Given the description of an element on the screen output the (x, y) to click on. 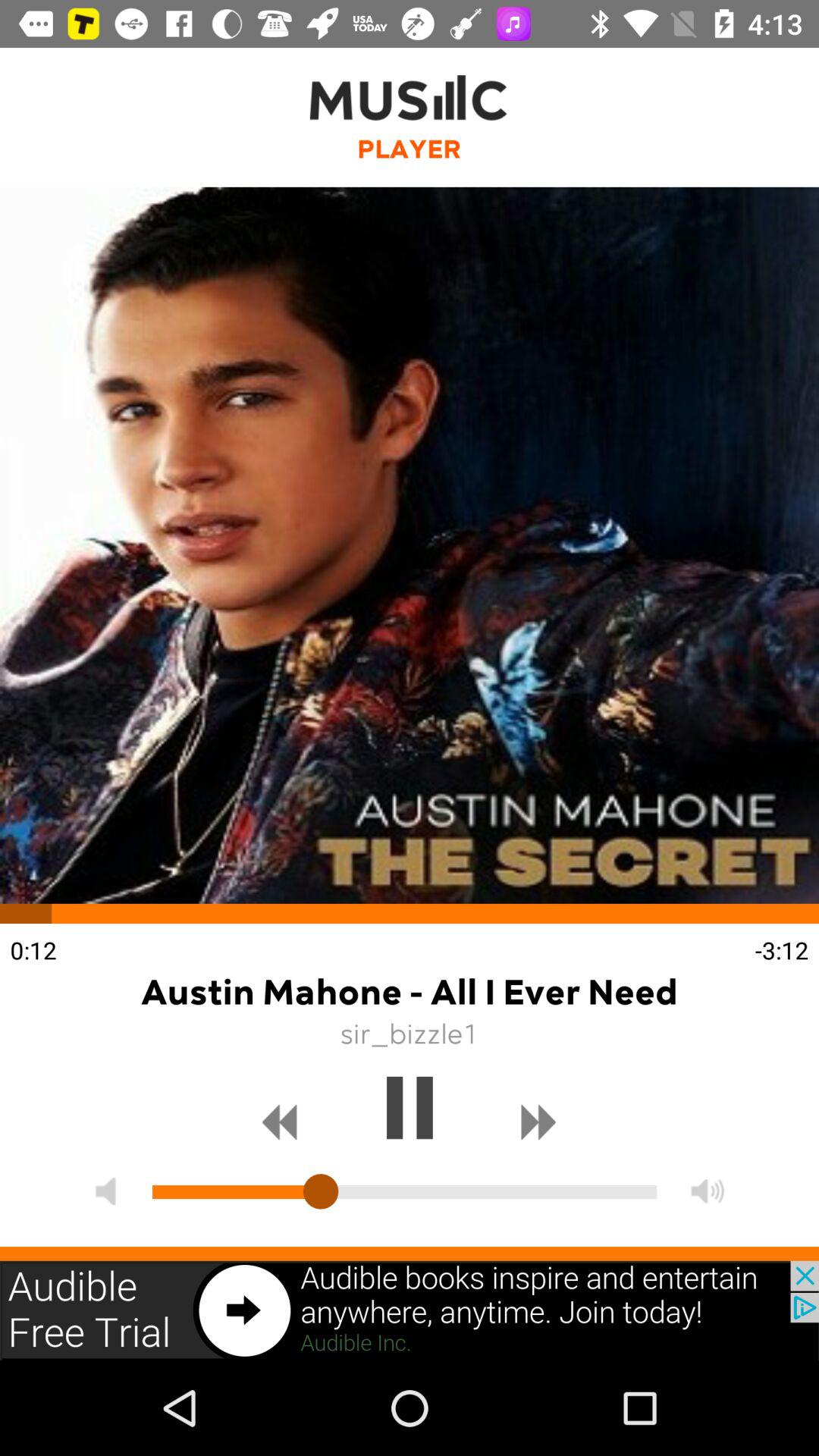
play next song (538, 1122)
